Given the description of an element on the screen output the (x, y) to click on. 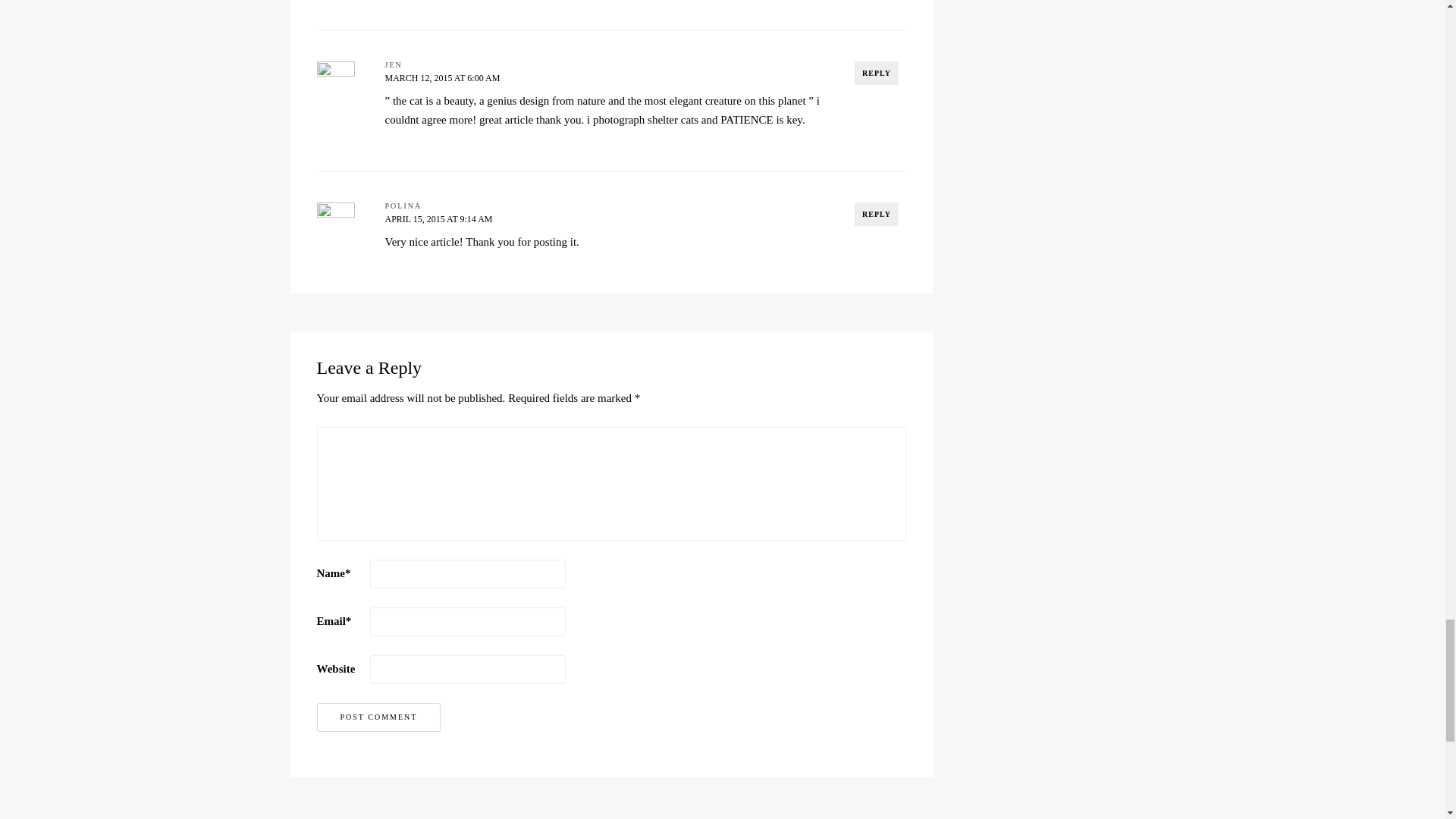
Post comment (379, 717)
